Given the description of an element on the screen output the (x, y) to click on. 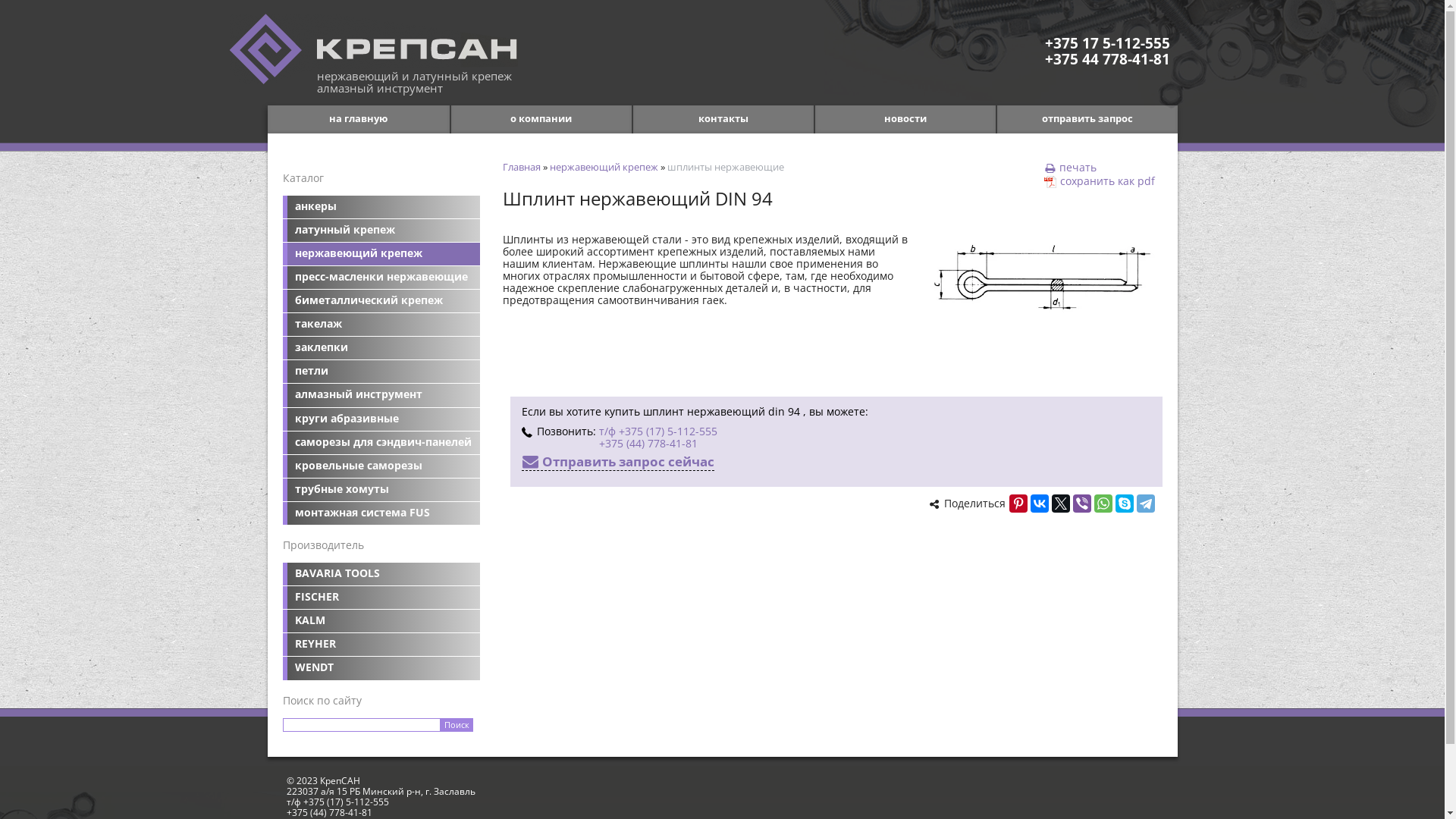
FISCHER Element type: text (380, 597)
KALM Element type: text (380, 620)
+375 (44) 778-41-81 Element type: text (329, 811)
+375 (44) 778-41-81 Element type: text (648, 443)
Viber Element type: hover (1081, 503)
Pinterest Element type: hover (1017, 503)
Twitter Element type: hover (1060, 503)
REYHER Element type: text (380, 644)
WENDT Element type: text (380, 667)
Telegram Element type: hover (1144, 503)
Skype Element type: hover (1123, 503)
BAVARIA TOOLS Element type: text (380, 573)
WhatsApp Element type: hover (1102, 503)
